Given the description of an element on the screen output the (x, y) to click on. 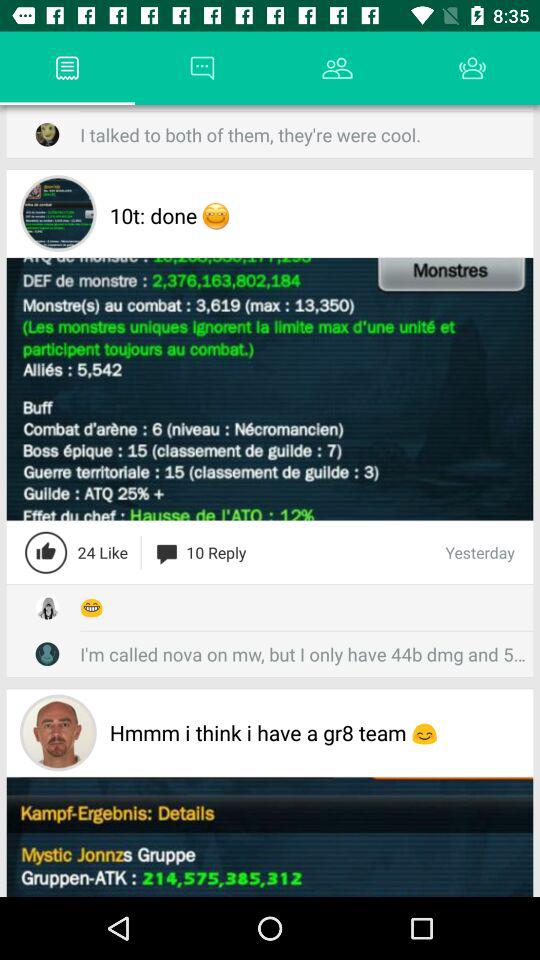
shows a like icon (46, 552)
